Given the description of an element on the screen output the (x, y) to click on. 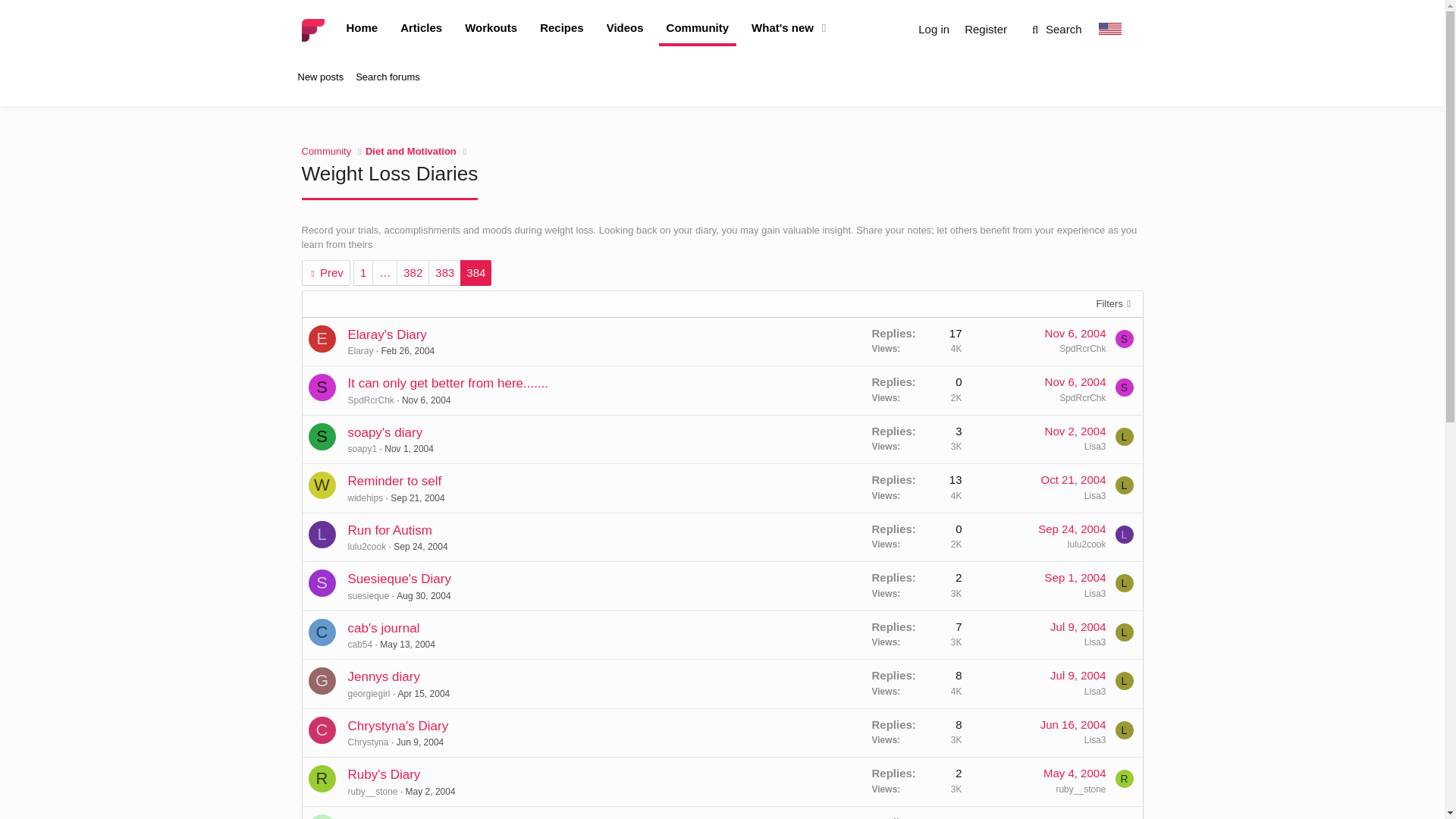
Diet and Motivation (411, 151)
Nov 1, 2004 at 2:30 PM (408, 448)
Workouts (490, 28)
Sep 21, 2004 at 2:15 AM (417, 498)
Nov 6, 2004 at 3:27 AM (1075, 381)
Sep 24, 2004 at 11:57 PM (419, 546)
First message reaction score: 0 (917, 488)
Community (697, 28)
First message reaction score: 0 (917, 341)
Prev (325, 273)
Home (361, 28)
Nov 2, 2004 at 1:34 AM (1075, 431)
Register (985, 30)
Log in (933, 30)
Search (1054, 30)
